Given the description of an element on the screen output the (x, y) to click on. 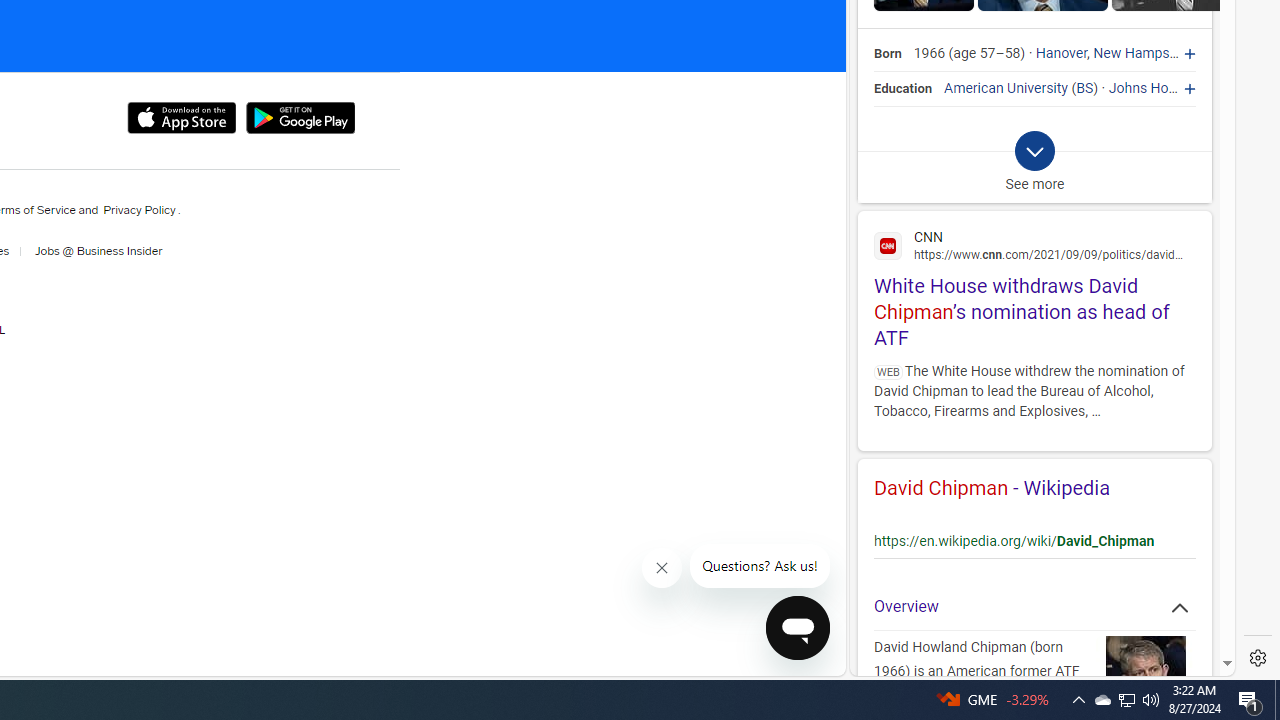
Get it on Google Play (299, 117)
Class: sc-1k07fow-1 cbnSms (797, 627)
Close message from company (662, 567)
Class: b_exp_chevron_svg b_expmob_chev (1034, 151)
New Hampshire (1142, 53)
Get it on Google Play (299, 118)
Born (888, 53)
BS (1085, 88)
American University (1005, 88)
Jobs at Business Insider (96, 251)
